Given the description of an element on the screen output the (x, y) to click on. 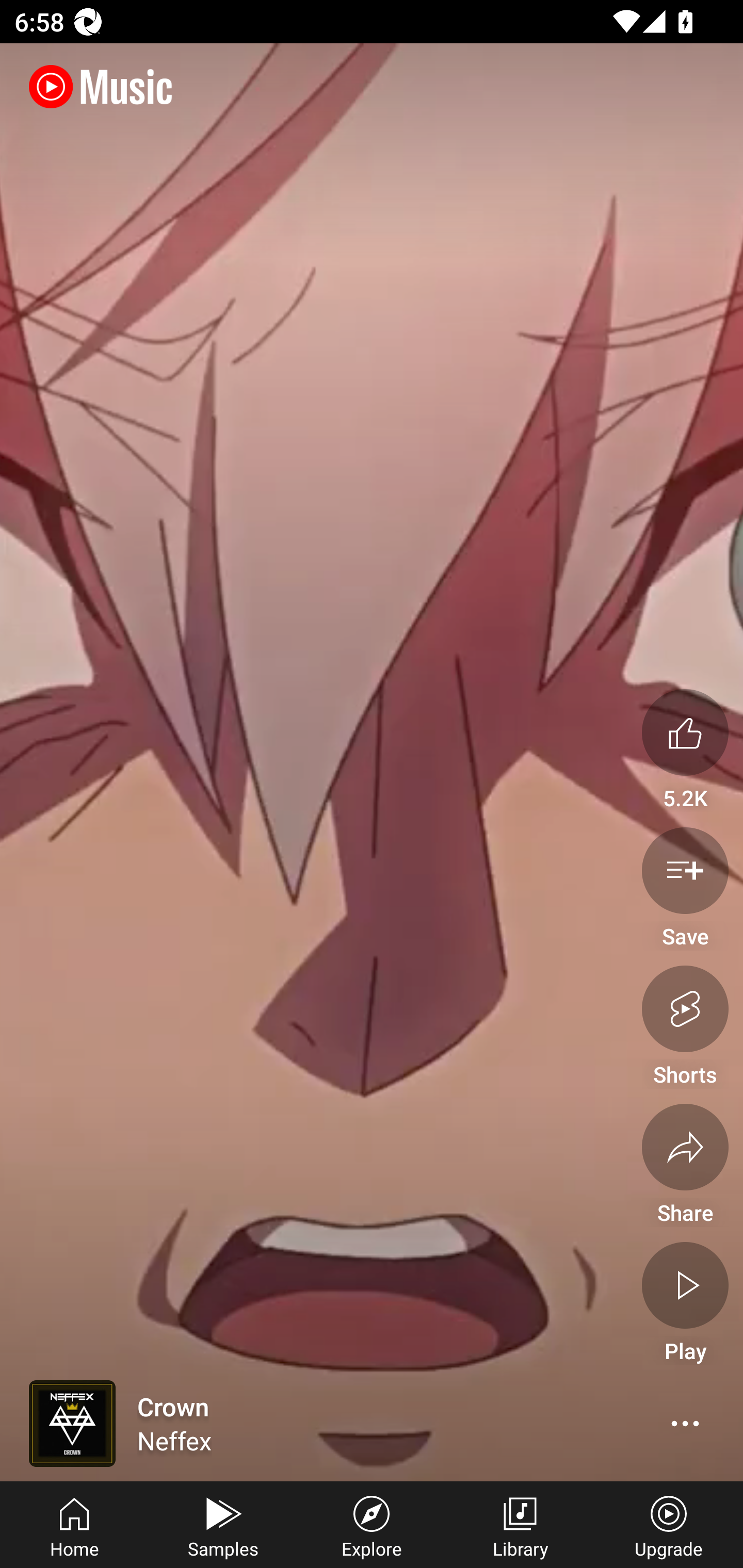
Crown (291, 1423)
Home (74, 1524)
Explore (371, 1524)
Library (519, 1524)
Upgrade (668, 1524)
